Given the description of an element on the screen output the (x, y) to click on. 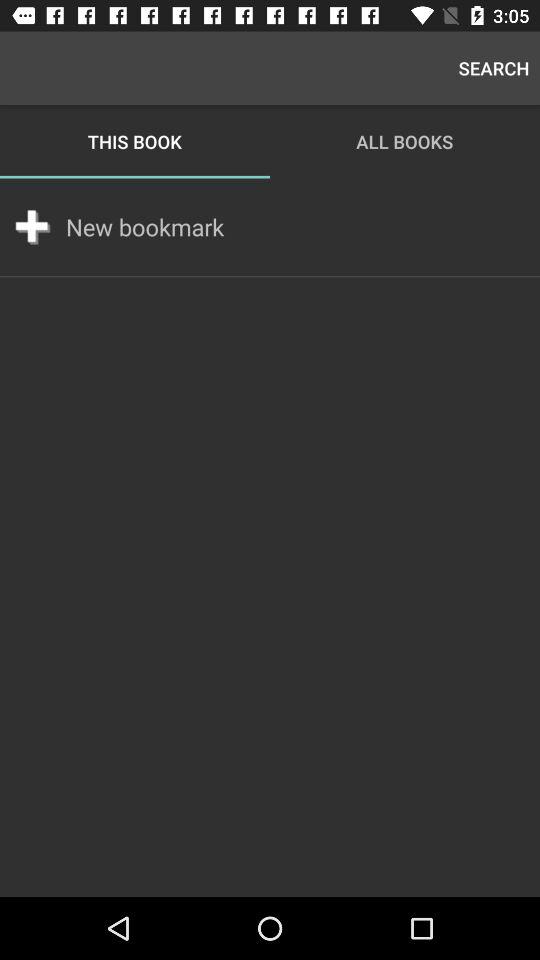
jump to the new bookmark item (145, 227)
